Given the description of an element on the screen output the (x, y) to click on. 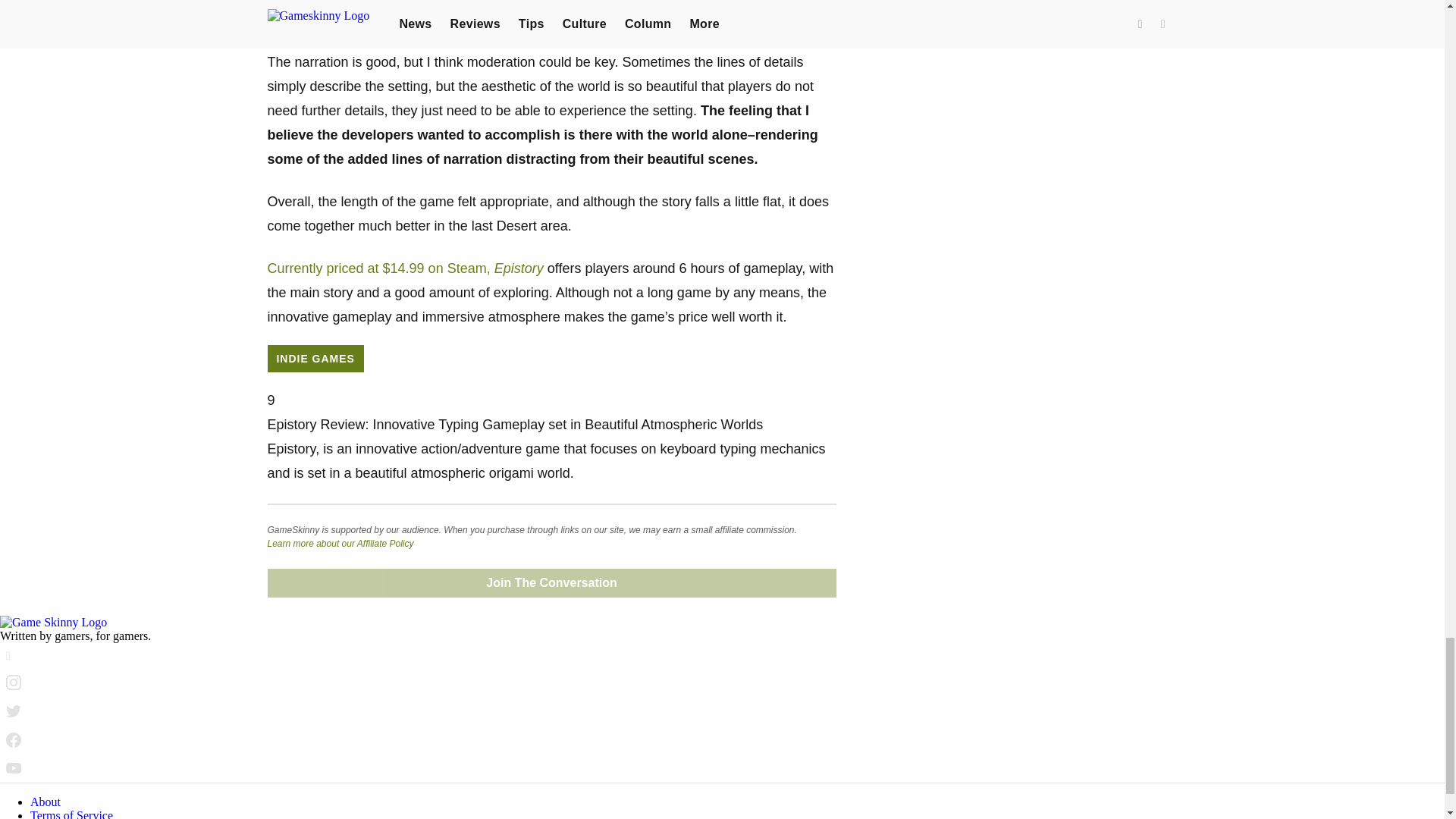
Join The Conversation (550, 582)
